Given the description of an element on the screen output the (x, y) to click on. 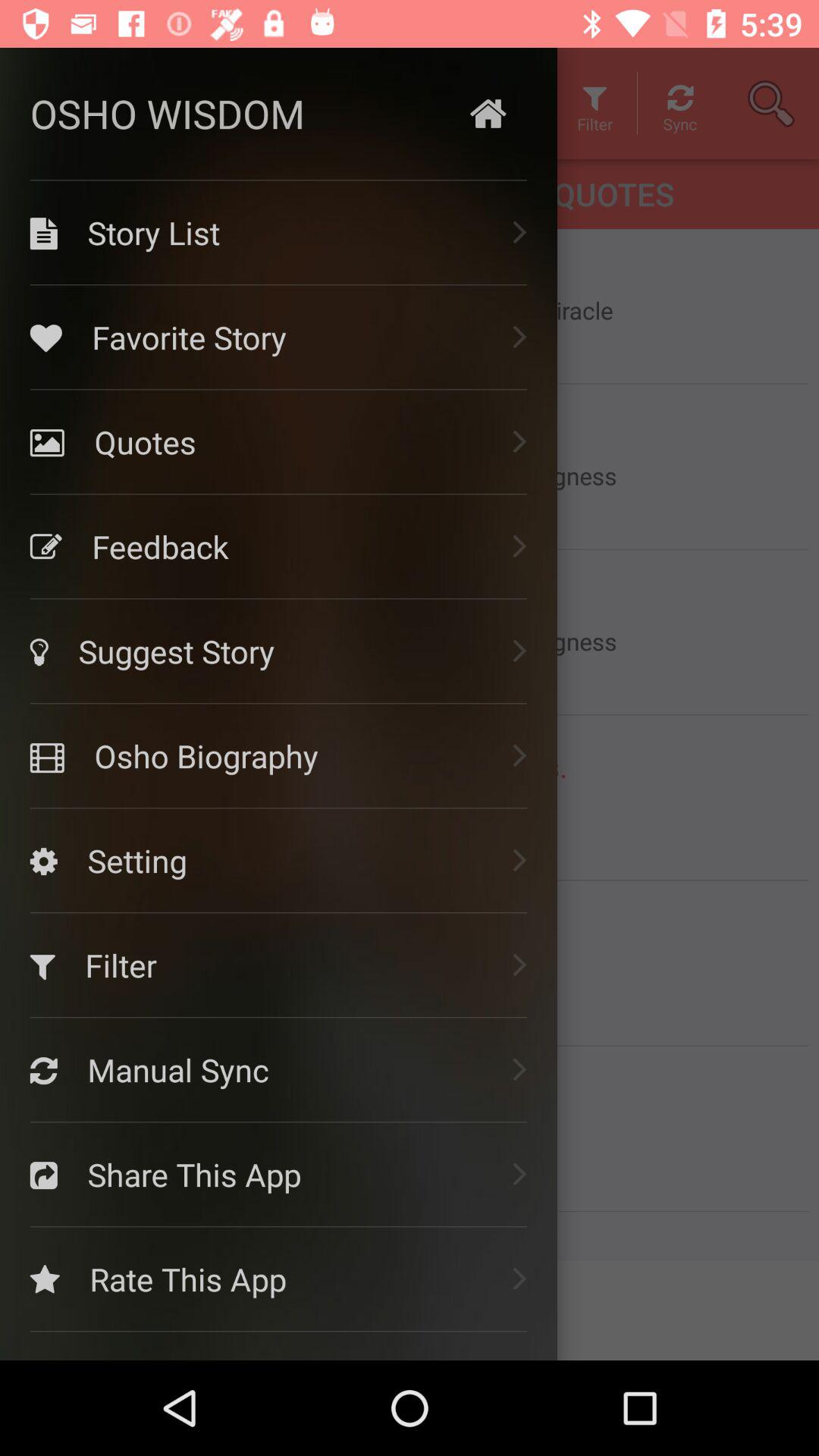
click the button on the right next to the button share this app on the web page (520, 1172)
